Given the description of an element on the screen output the (x, y) to click on. 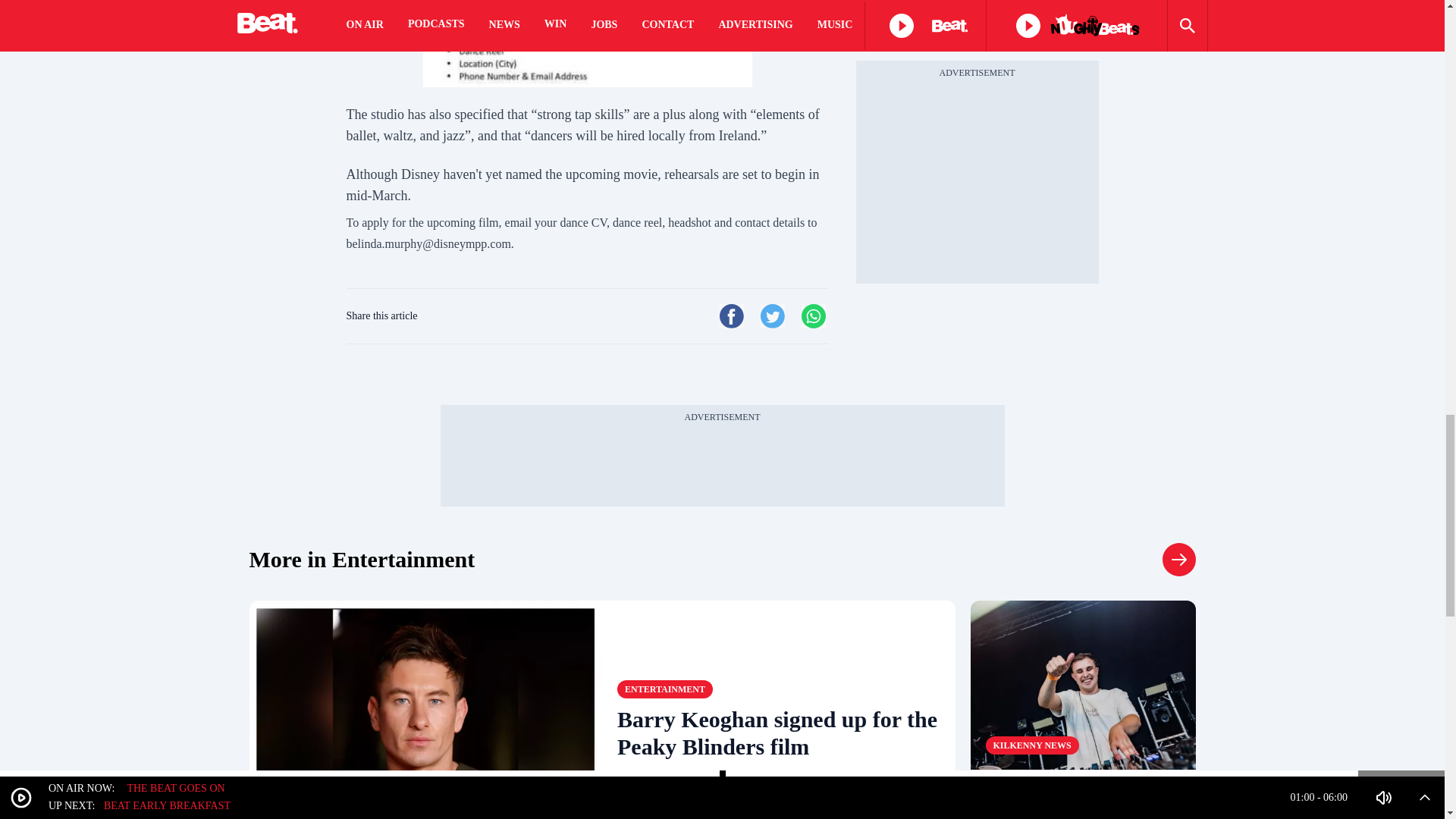
Kilkenny DJ 'Welshy' a part of winning Junior B team (1082, 801)
Barry Keoghan signed up for the Peaky Blinders film (778, 732)
Entertainment (1178, 559)
Entertainment (665, 689)
Kilkenny News (1031, 745)
Entertainment (361, 559)
Barry Keoghan signed up for the Peaky Blinders film (425, 709)
